Given the description of an element on the screen output the (x, y) to click on. 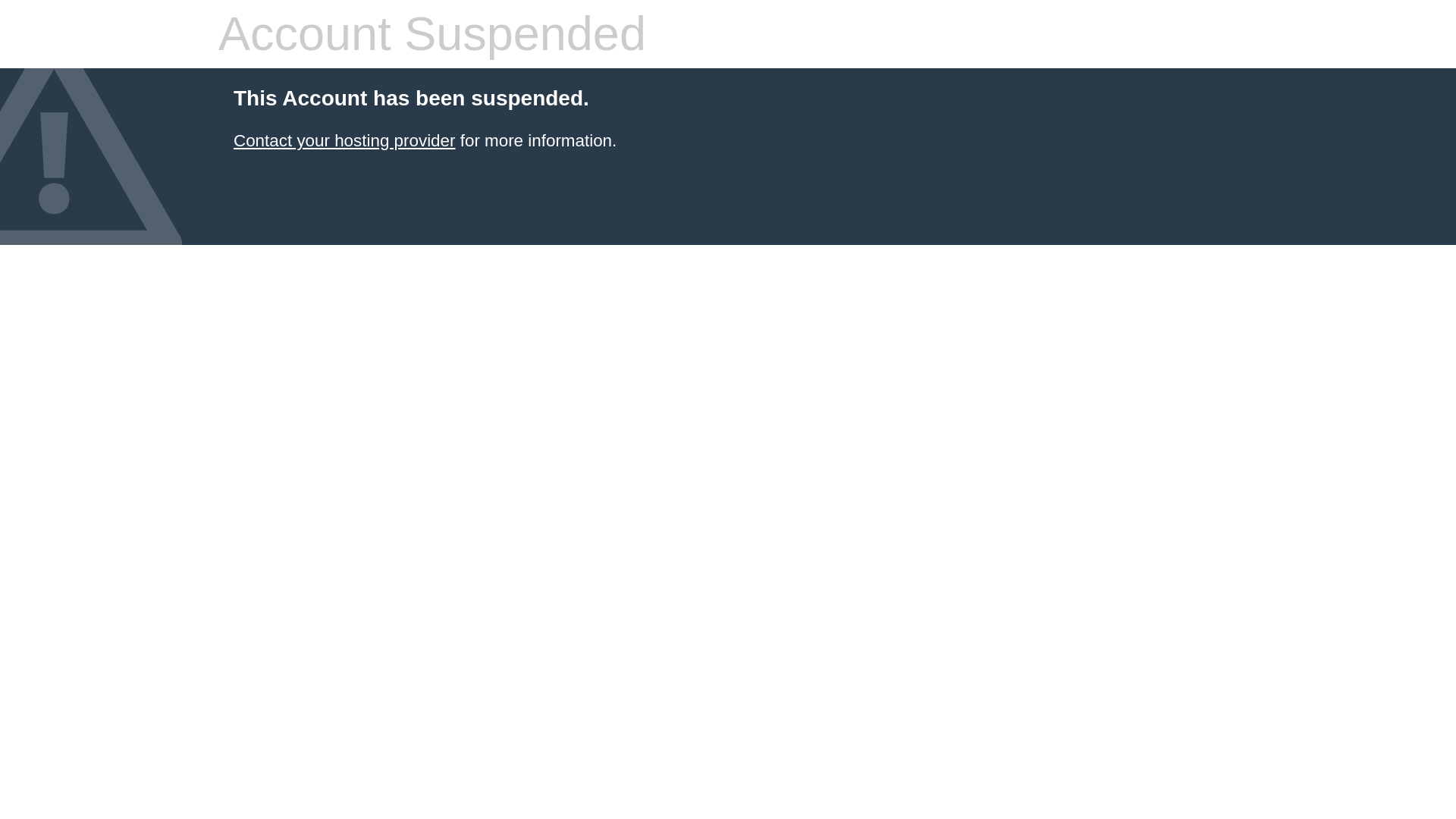
Contact your hosting provider (343, 140)
